Given the description of an element on the screen output the (x, y) to click on. 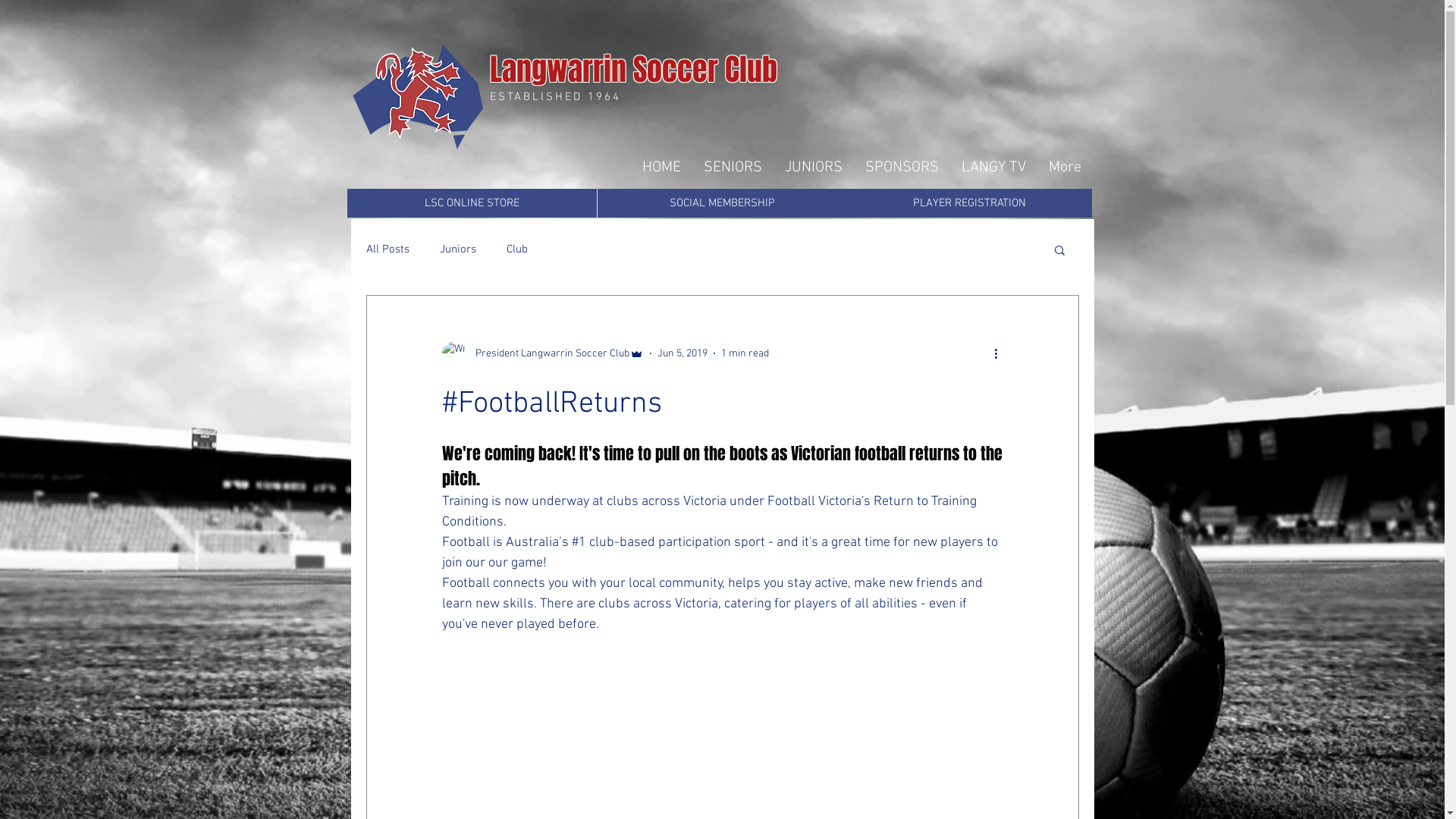
Langwarrin Soccer Club Element type: text (633, 69)
SENIORS Element type: text (731, 167)
langwarrin_logo-[Converted].gif Element type: hover (416, 97)
President Langwarrin Soccer Club Element type: text (542, 353)
SPONSORS Element type: text (901, 167)
Juniors Element type: text (457, 249)
SOCIAL MEMBERSHIP Element type: text (722, 202)
JUNIORS Element type: text (813, 167)
LSC ONLINE STORE Element type: text (471, 202)
LANGY TV Element type: text (992, 167)
PLAYER REGISTRATION Element type: text (968, 202)
All Posts Element type: text (386, 249)
Club Element type: text (516, 249)
HOME Element type: text (661, 167)
